Given the description of an element on the screen output the (x, y) to click on. 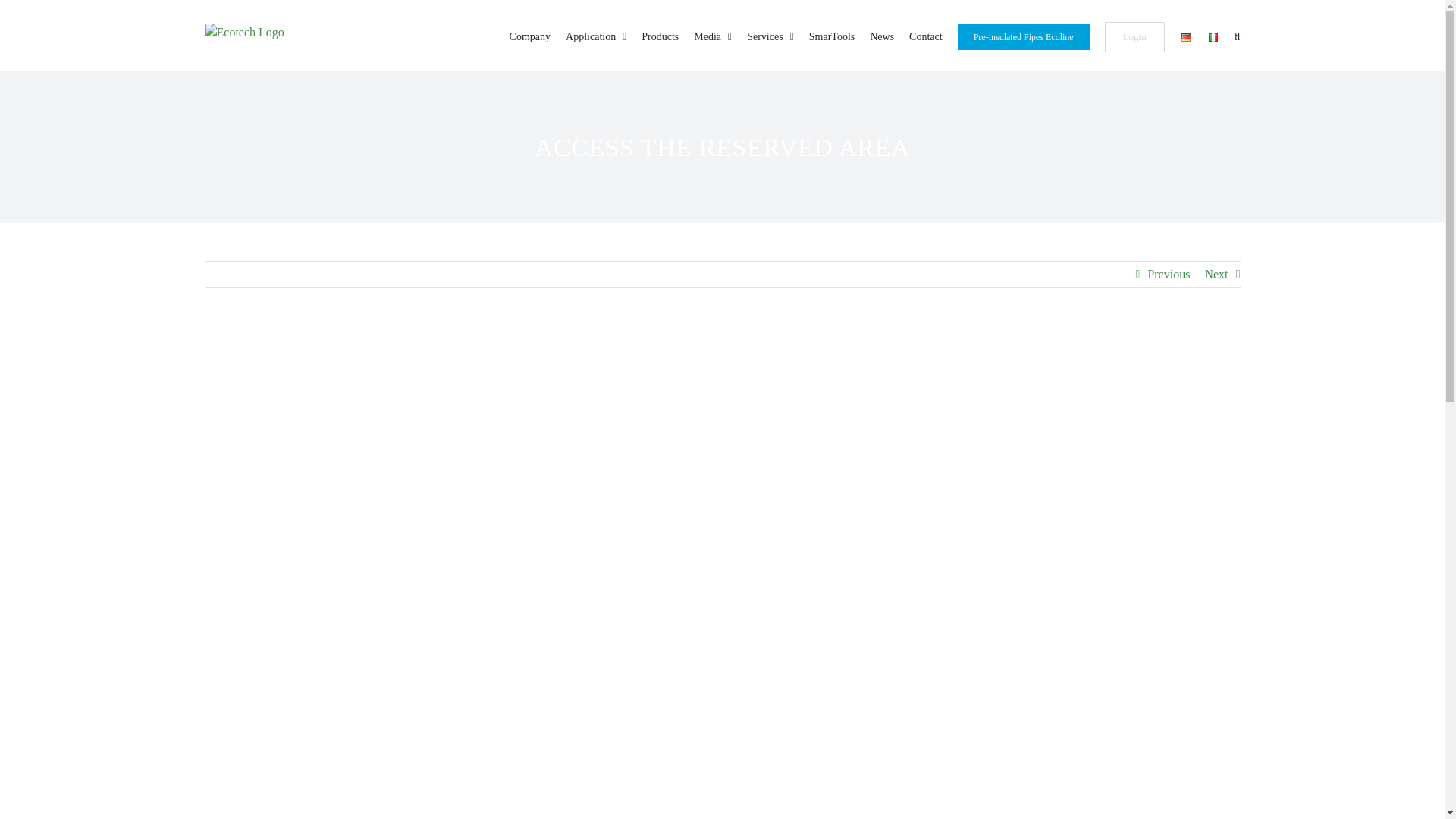
Next (1215, 274)
Pre-insulated Pipes Ecoline (1023, 35)
Pre-insulated Pipes Ecoline (1023, 35)
Previous (1168, 274)
